Given the description of an element on the screen output the (x, y) to click on. 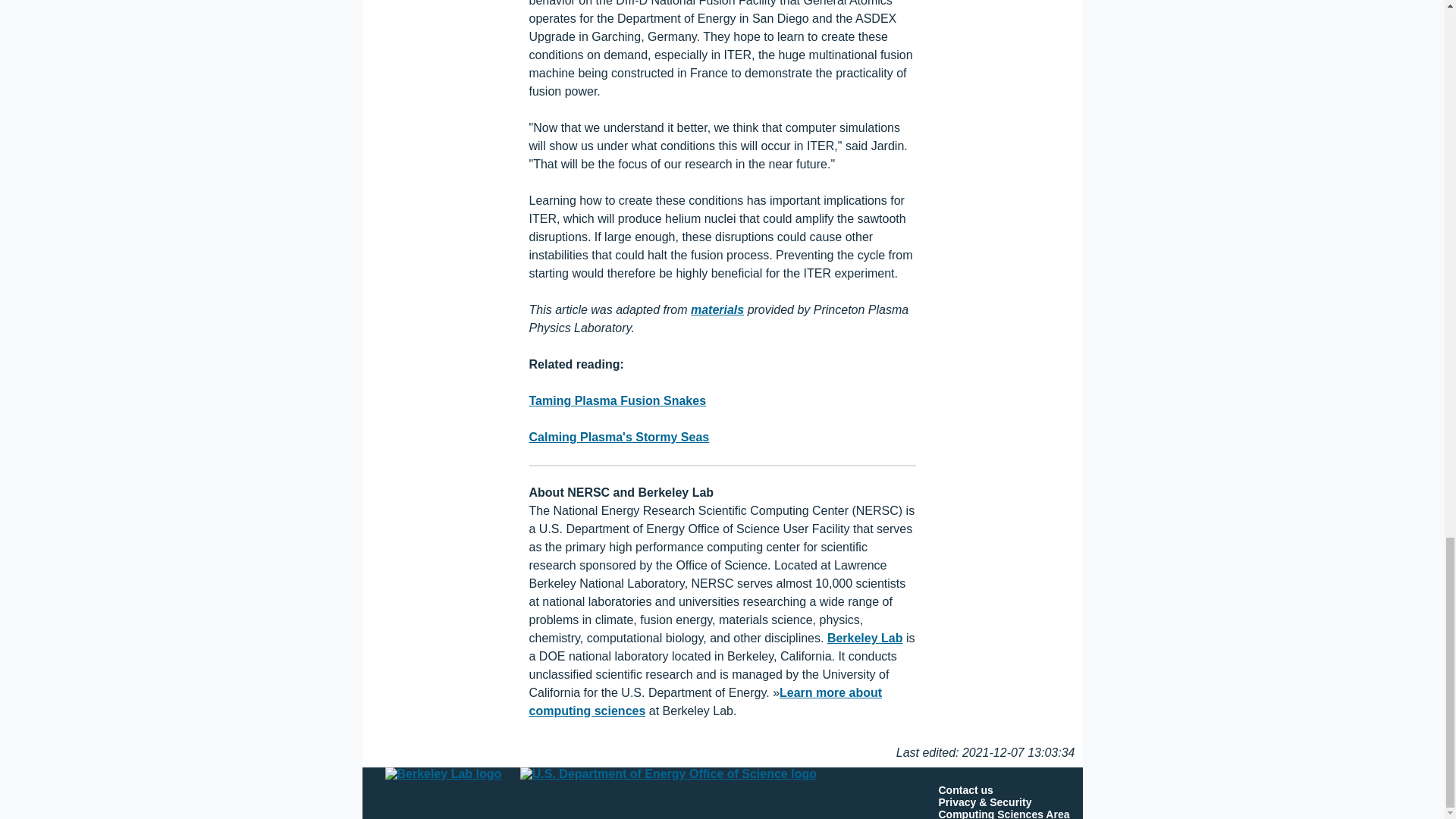
Taming Plasma Fusion Snakes (617, 400)
 Calming Fusion Energy's Stormy Seas (619, 436)
